Given the description of an element on the screen output the (x, y) to click on. 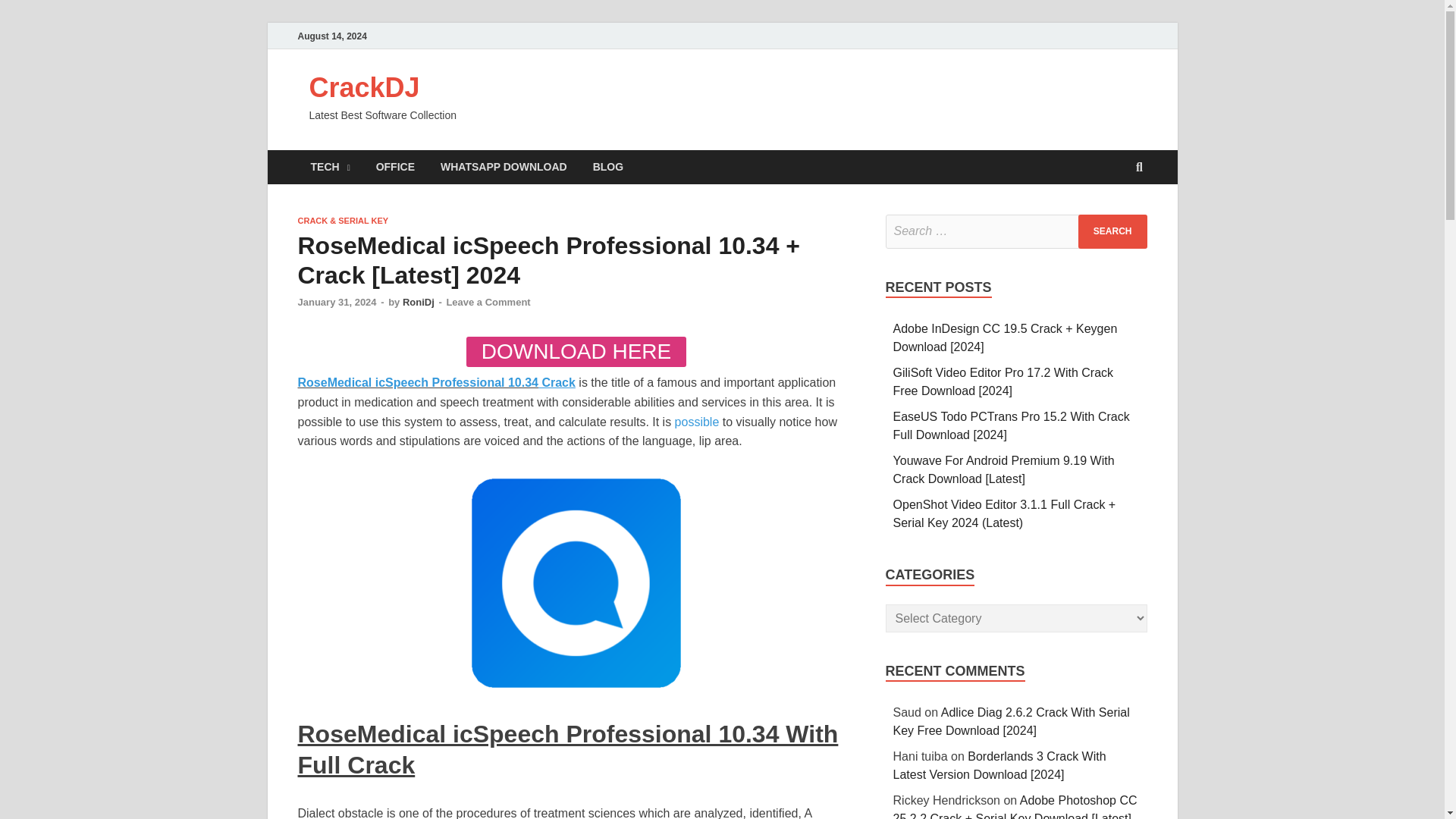
OFFICE (395, 166)
BLOG (607, 166)
Search (1112, 231)
WHATSAPP DOWNLOAD (503, 166)
CrackDJ (364, 87)
Search (1112, 231)
TECH (329, 166)
